Given the description of an element on the screen output the (x, y) to click on. 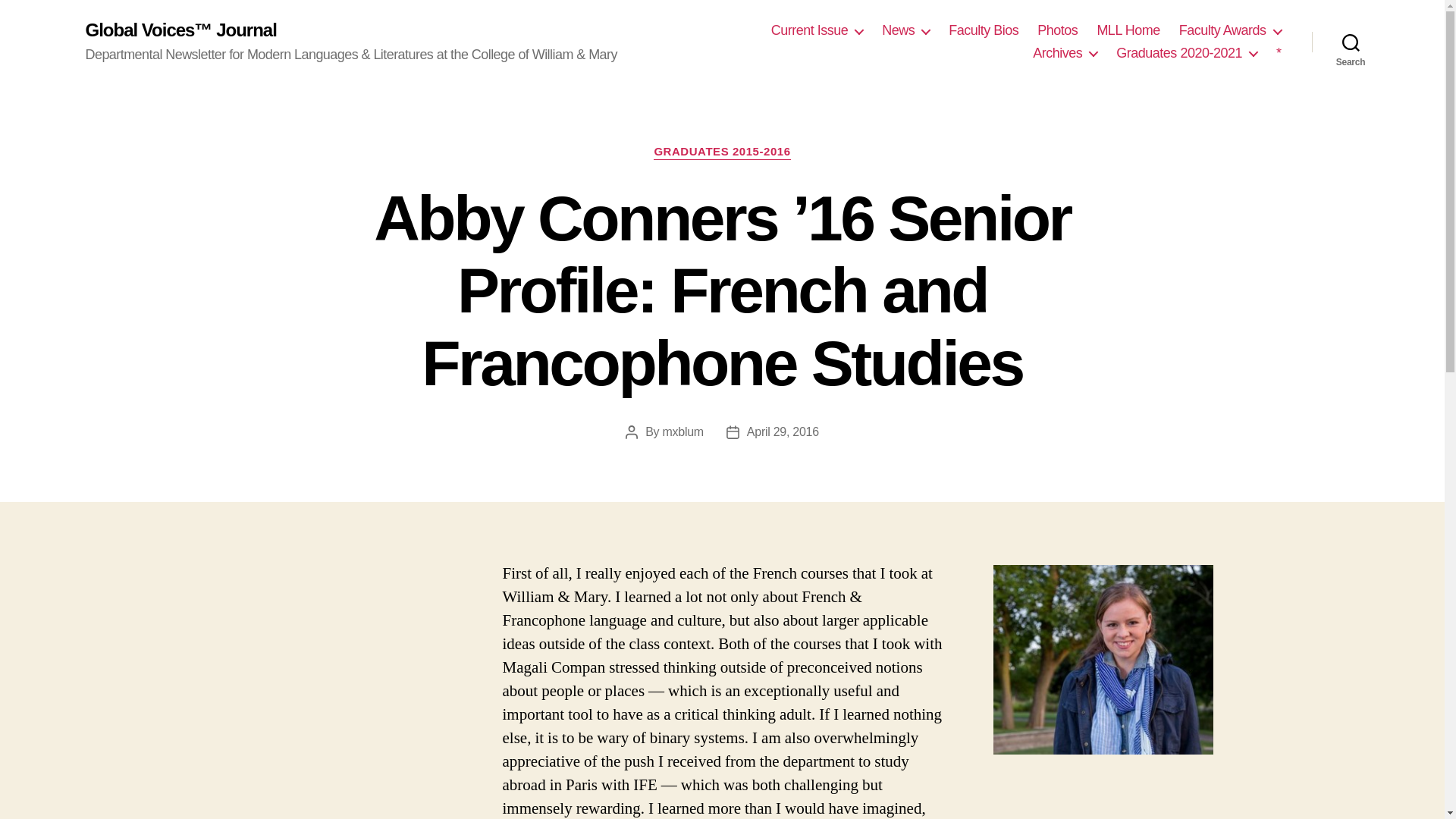
Photos (1056, 30)
Faculty Awards (1230, 30)
Faculty Bios (983, 30)
MLL Home (1127, 30)
Archives (1064, 53)
News (906, 30)
Current Issue (817, 30)
